Given the description of an element on the screen output the (x, y) to click on. 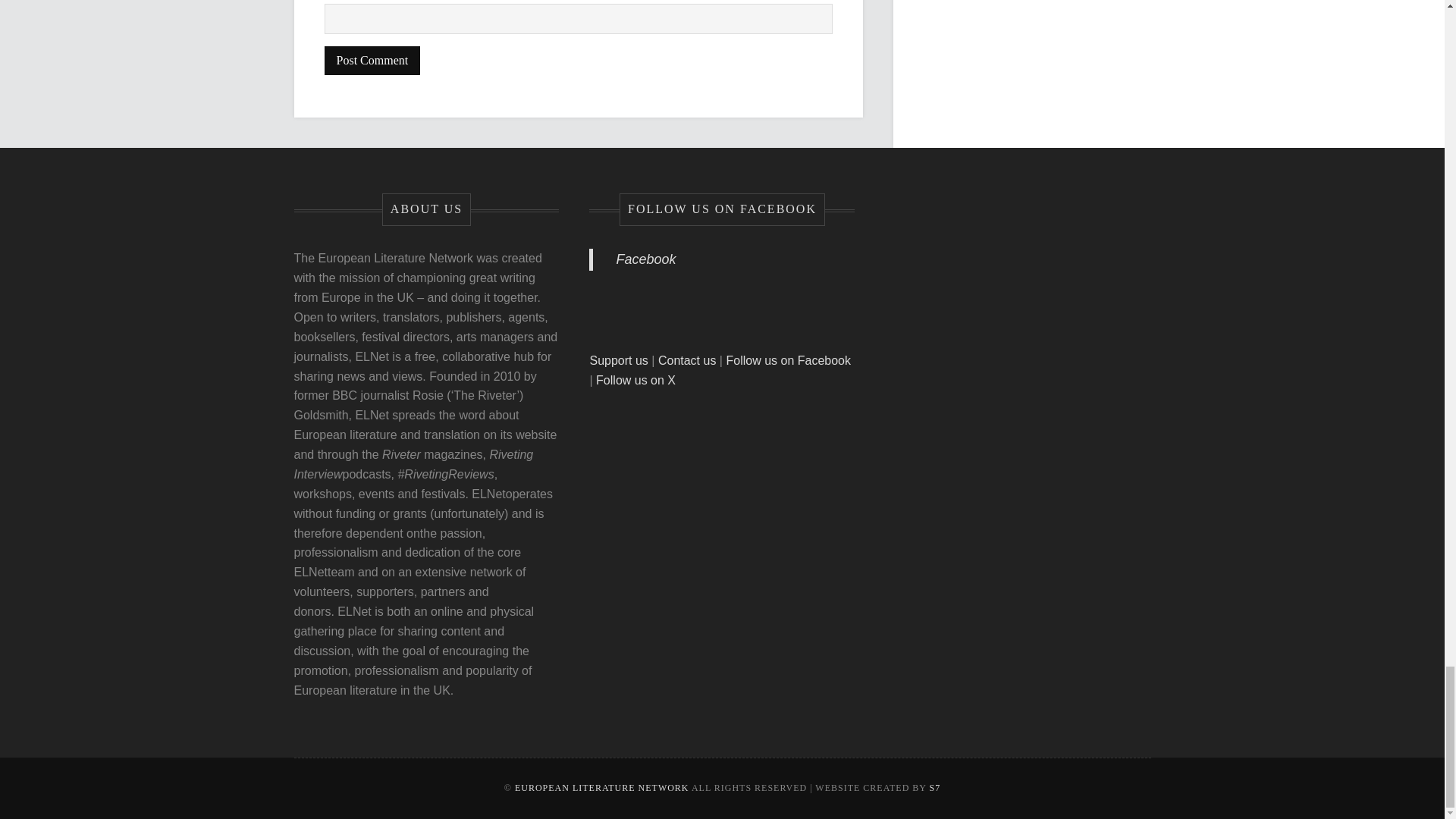
Post Comment (372, 60)
